Given the description of an element on the screen output the (x, y) to click on. 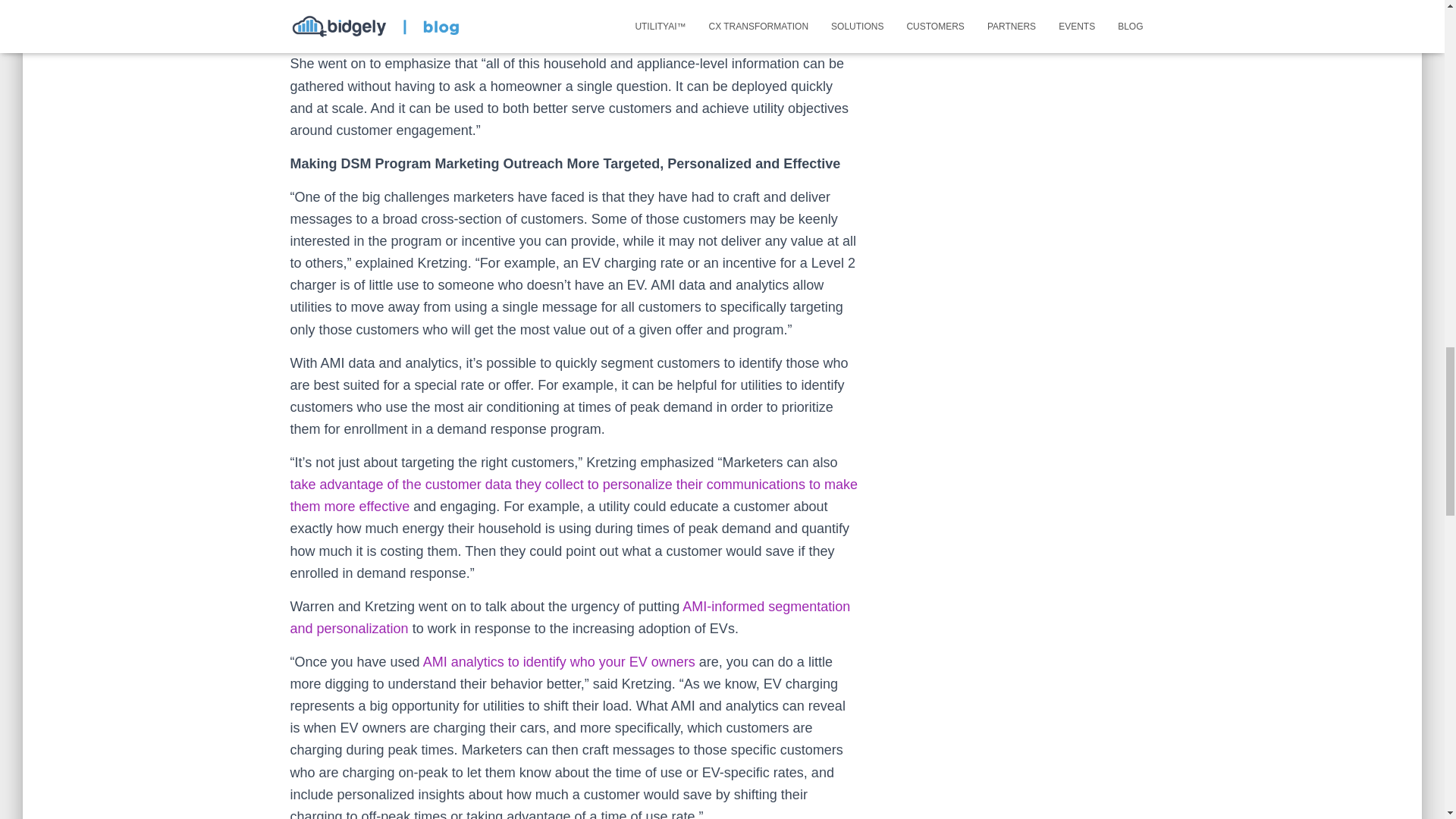
AMI analytics to identify who your EV owners (559, 661)
AMI-informed segmentation and personalization (569, 617)
